Given the description of an element on the screen output the (x, y) to click on. 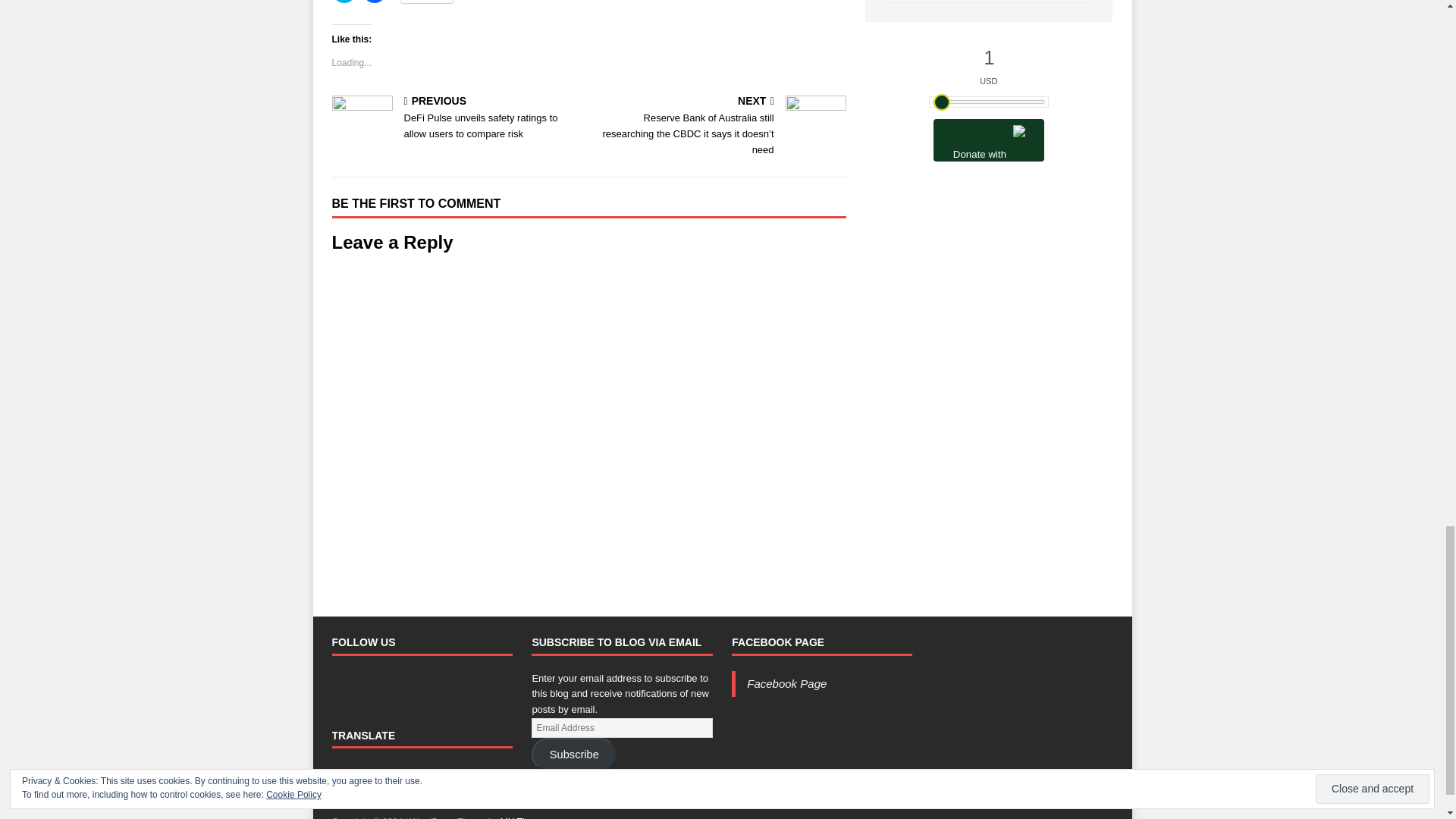
1 (988, 101)
Click to share on Facebook (374, 1)
More (427, 1)
Click to share on Twitter (343, 1)
1 (989, 57)
